Given the description of an element on the screen output the (x, y) to click on. 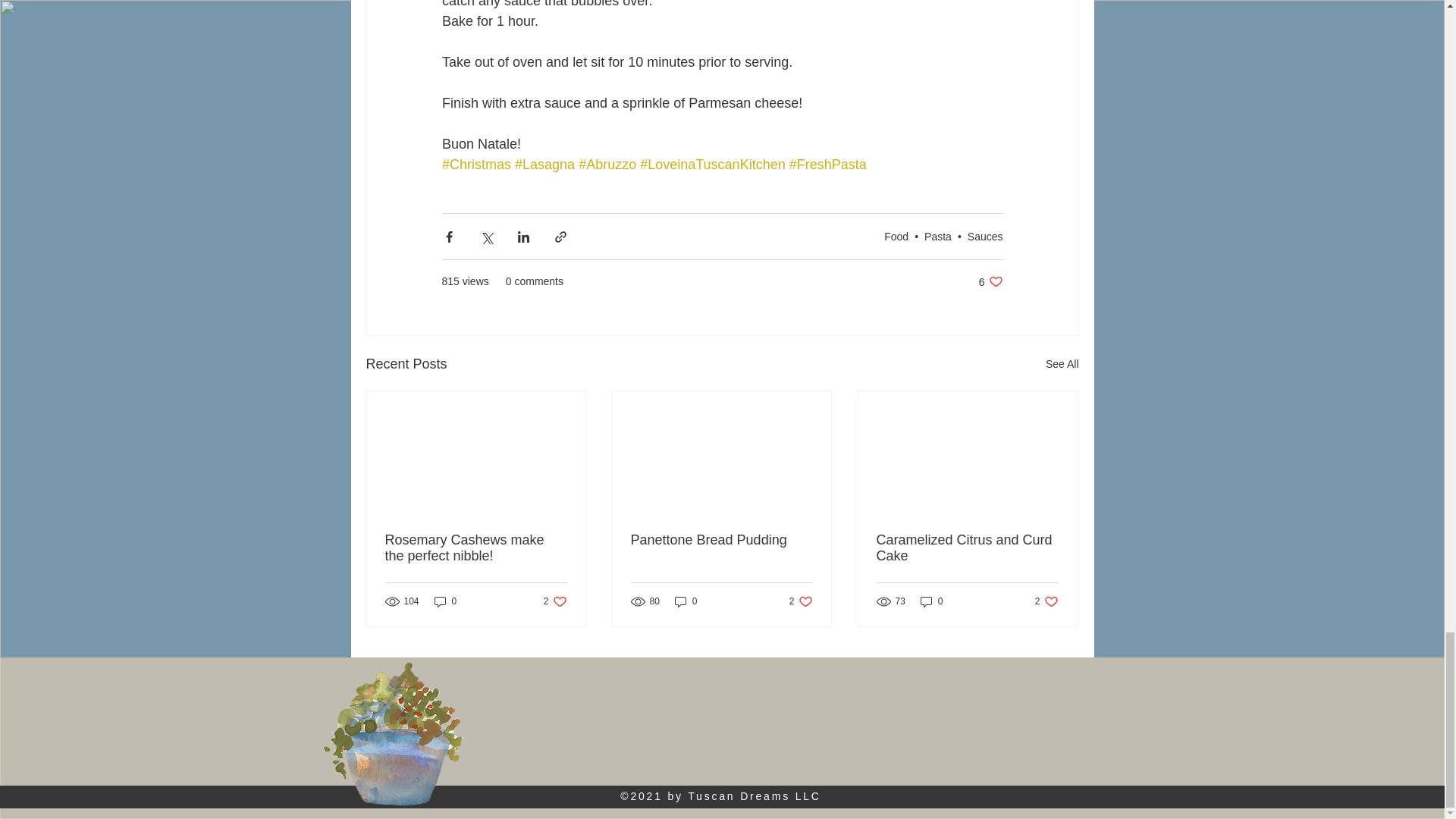
Food (895, 236)
Pasta (938, 236)
See All (990, 281)
Sauces (1061, 363)
